Given the description of an element on the screen output the (x, y) to click on. 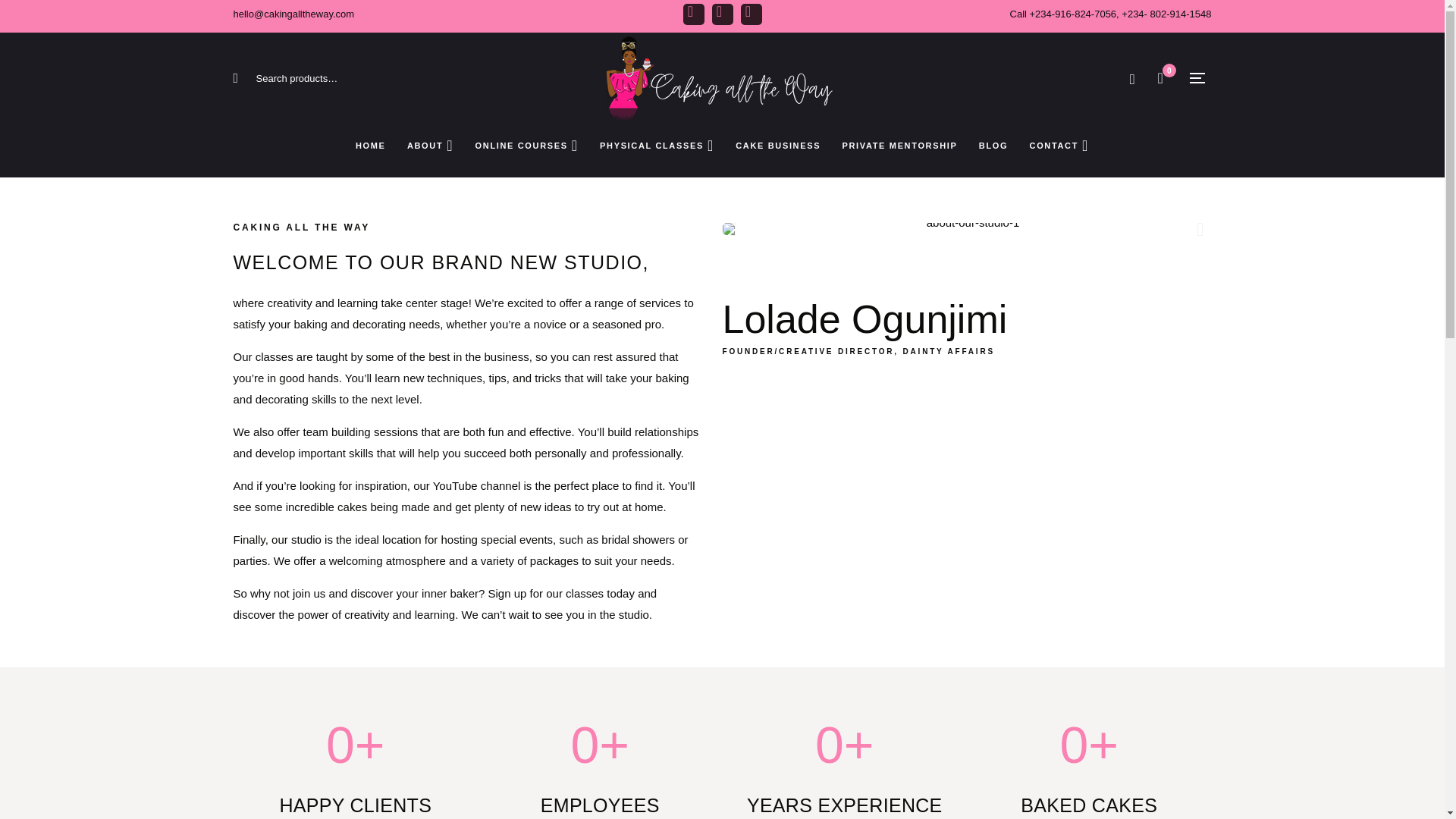
SEARCH (247, 78)
BLOG (993, 145)
CAKE BUSINESS (777, 145)
ONLINE COURSES (526, 146)
PHYSICAL CLASSES (657, 146)
PRIVATE MENTORSHIP (899, 145)
ABOUT (430, 146)
HOME (370, 145)
CONTACT (1058, 146)
